Given the description of an element on the screen output the (x, y) to click on. 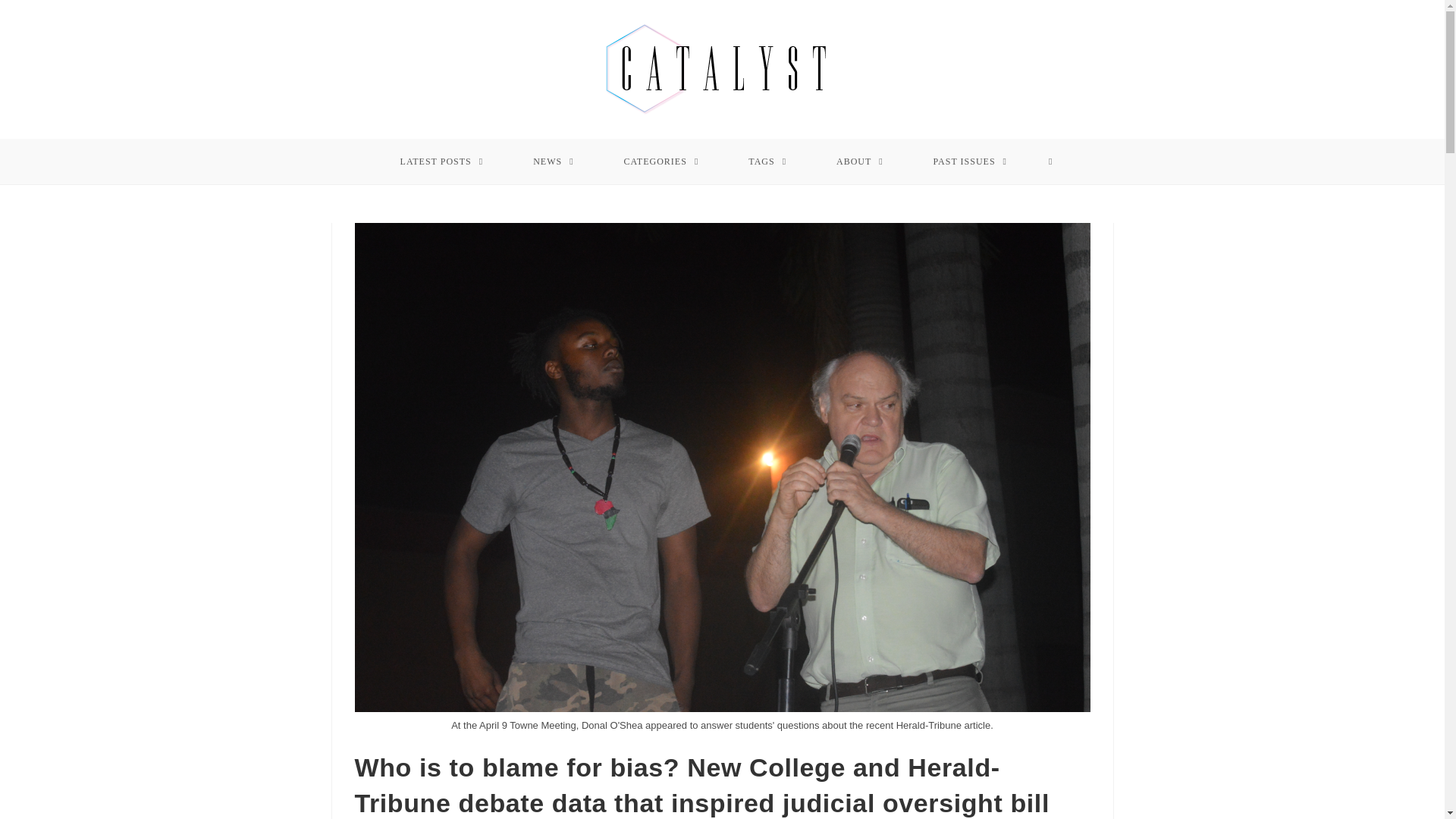
LATEST POSTS (441, 161)
PAST ISSUES (970, 161)
ABOUT (859, 161)
CATEGORIES (660, 161)
TAGS (766, 161)
NEWS (553, 161)
